Given the description of an element on the screen output the (x, y) to click on. 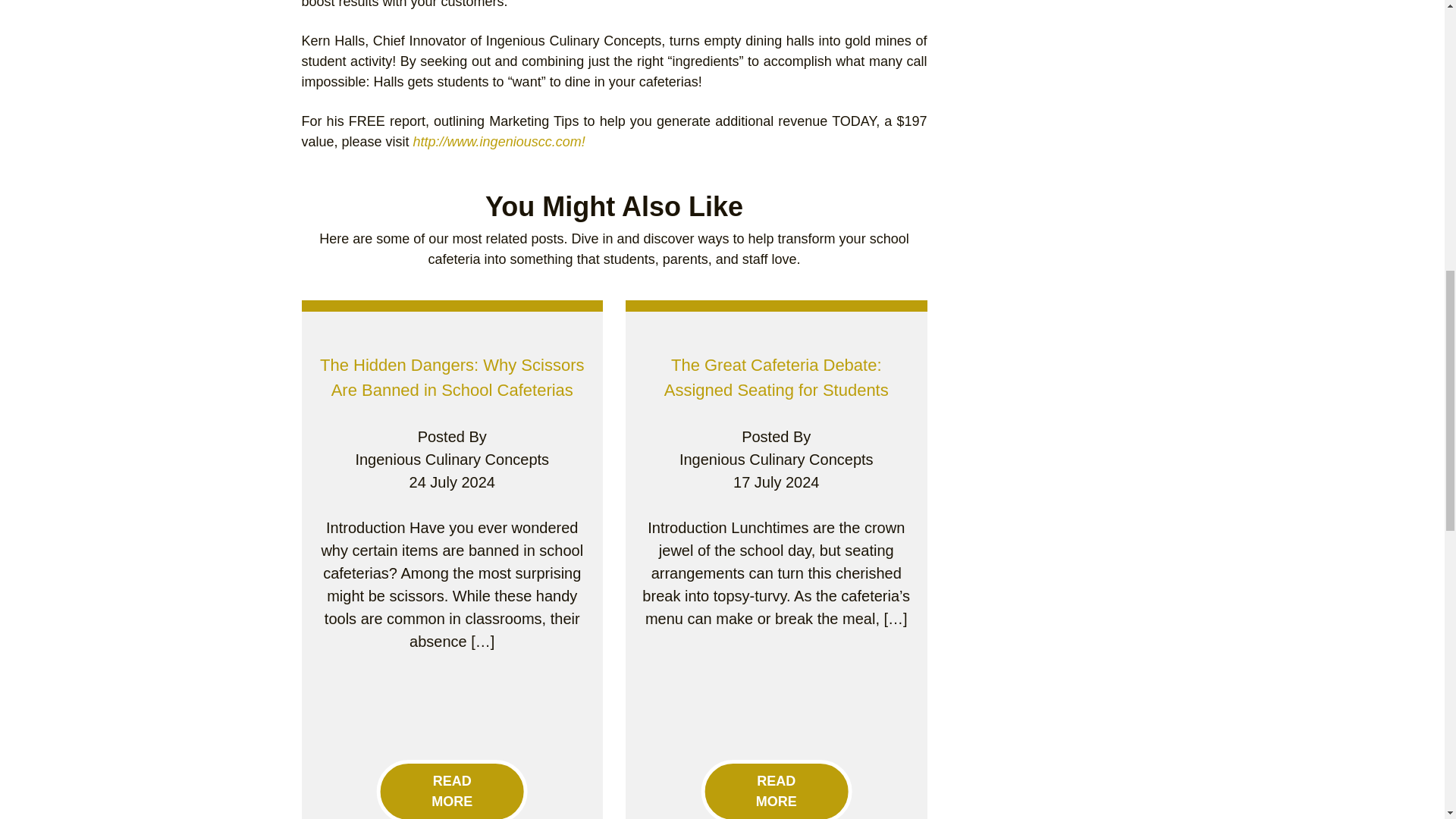
READ MORE (452, 789)
READ MORE (775, 789)
